Given the description of an element on the screen output the (x, y) to click on. 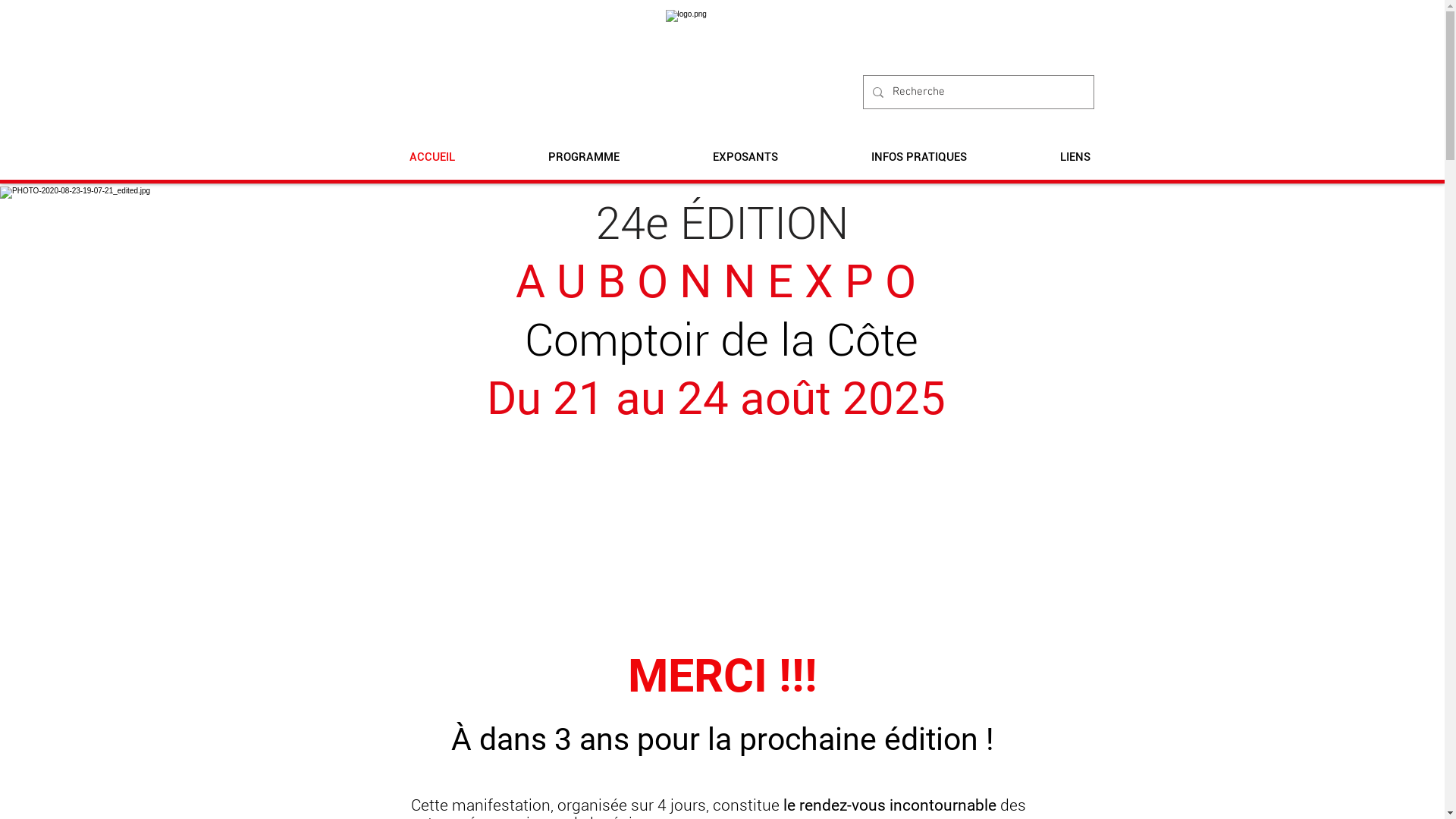
LIENS Element type: text (1074, 156)
ACCUEIL Element type: text (431, 156)
EXPOSANTS Element type: text (744, 156)
